Given the description of an element on the screen output the (x, y) to click on. 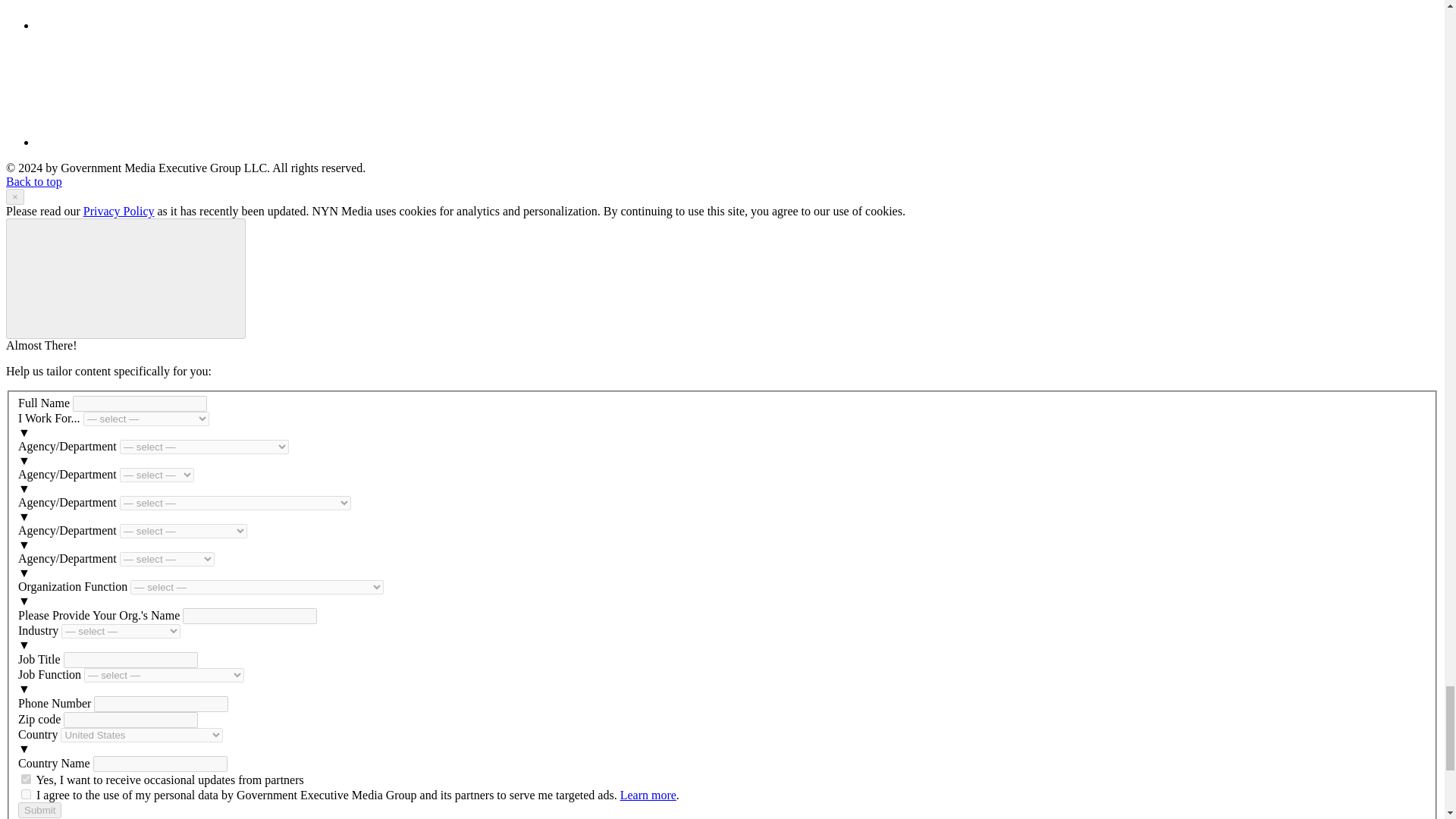
on (25, 778)
on (25, 794)
Submit (39, 810)
